Given the description of an element on the screen output the (x, y) to click on. 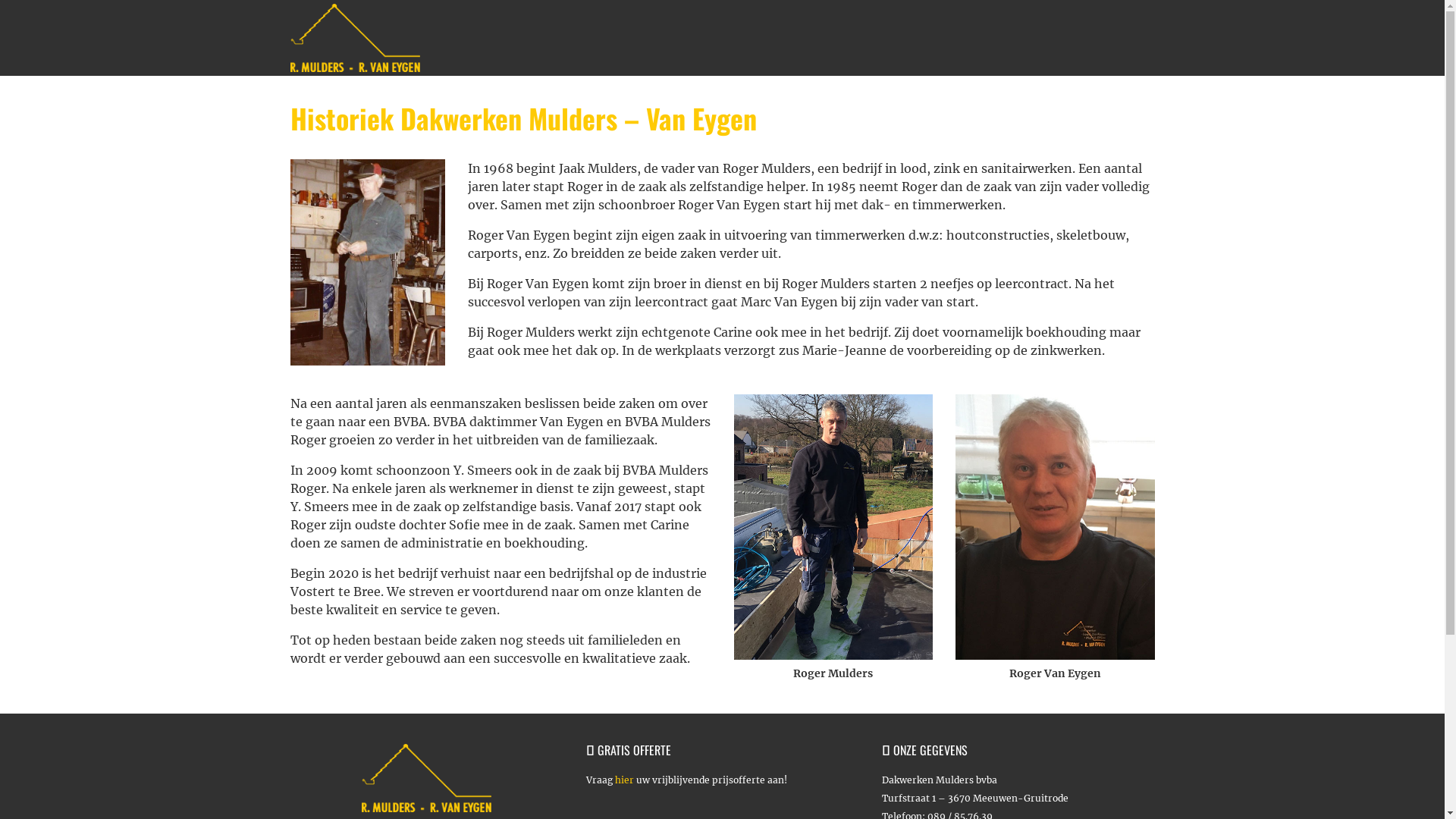
Roger Mulders Element type: hover (833, 526)
hier Element type: text (623, 779)
Roger Van Eygen Element type: hover (1054, 526)
Dakwerken Roger Mulders Element type: hover (425, 37)
